Given the description of an element on the screen output the (x, y) to click on. 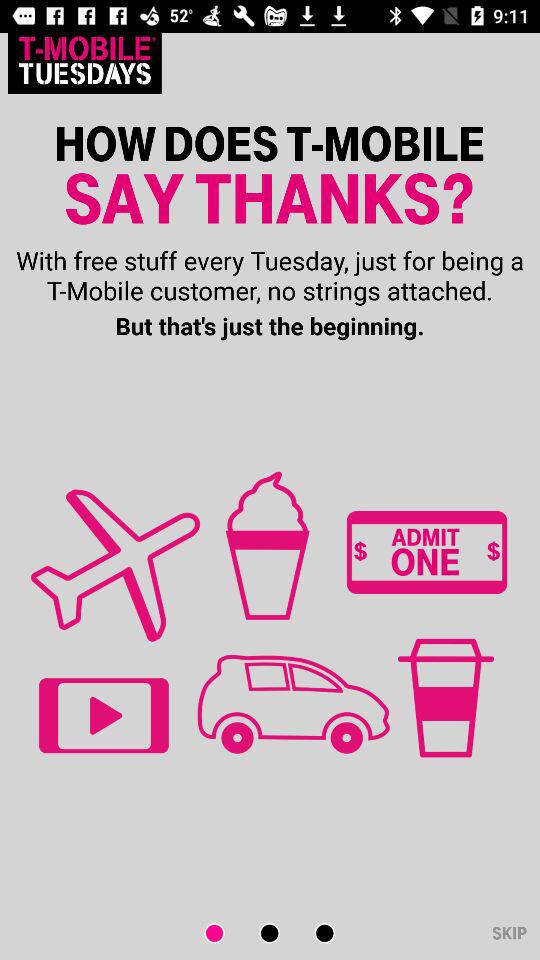
go to next (312, 933)
